Given the description of an element on the screen output the (x, y) to click on. 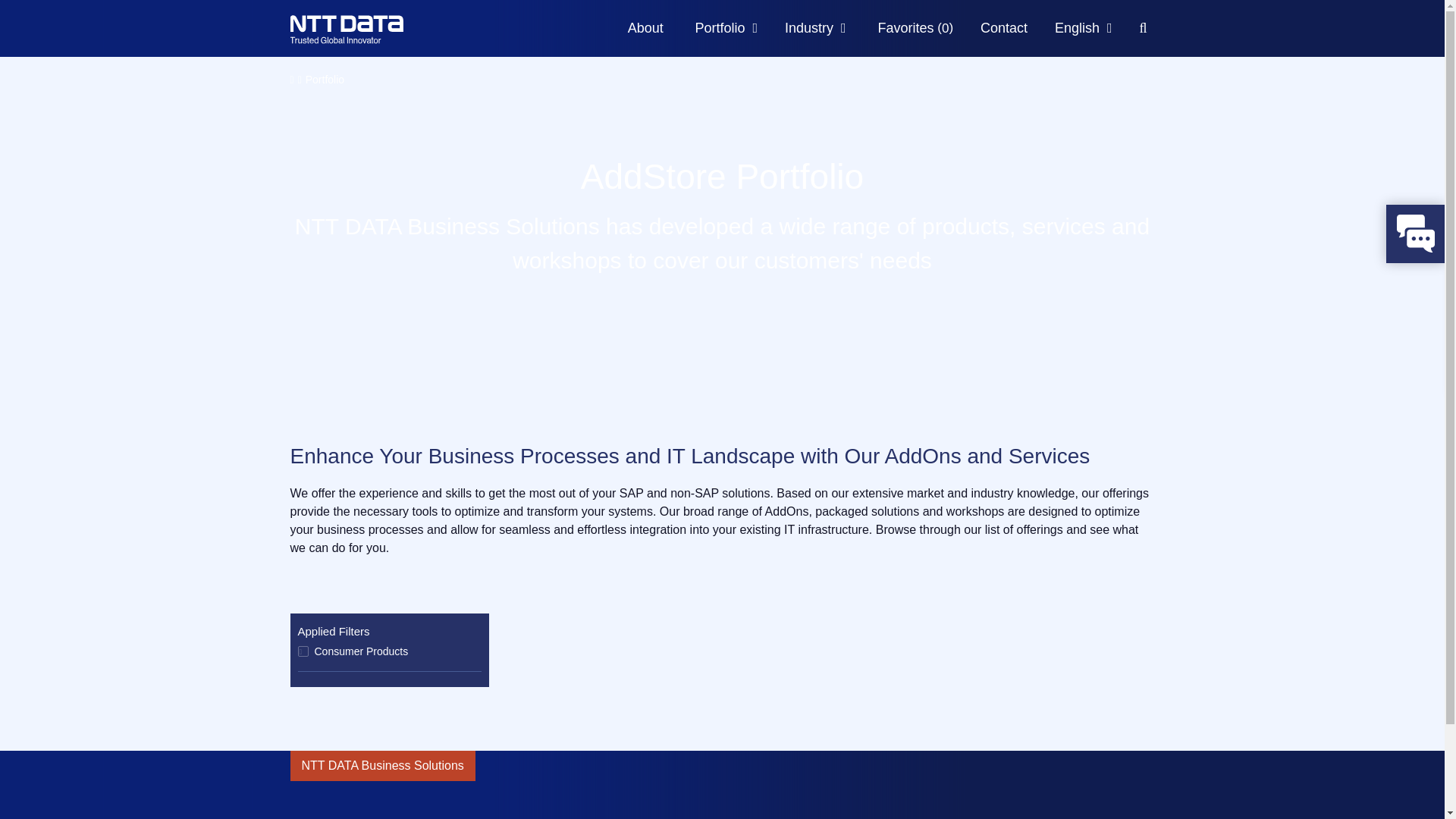
Addstore (373, 35)
Contact (1003, 28)
About (645, 28)
Industry (815, 28)
Portfolio (726, 28)
English (1082, 28)
